Given the description of an element on the screen output the (x, y) to click on. 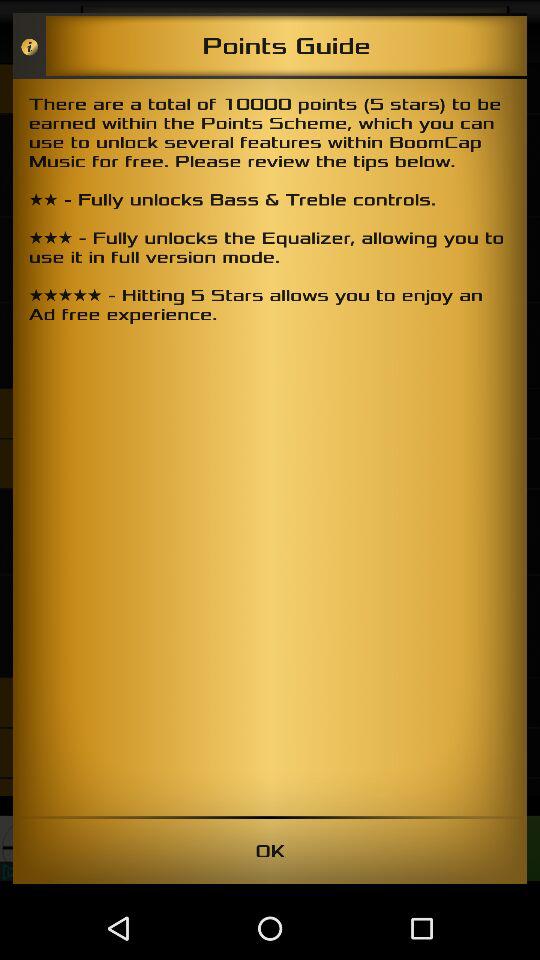
scroll to the there are a icon (269, 447)
